Given the description of an element on the screen output the (x, y) to click on. 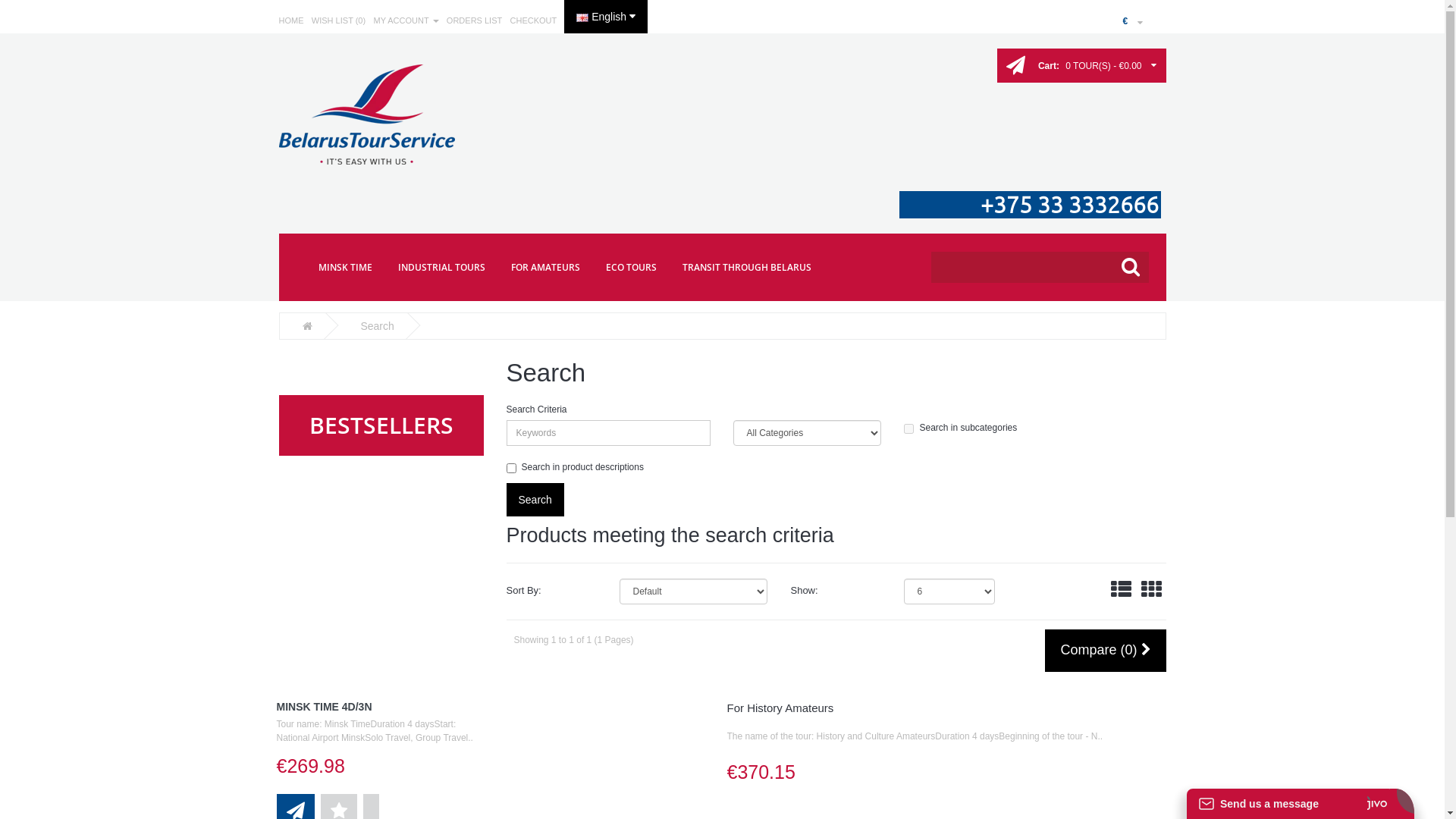
WISH LIST (0) Element type: text (338, 20)
English Element type: text (605, 16)
English Element type: hover (582, 17)
List Element type: hover (1120, 589)
CHECKOUT Element type: text (533, 20)
HOME Element type: text (291, 20)
MINSK TIME Element type: text (345, 267)
Search Element type: text (376, 325)
ORDERS LIST Element type: text (474, 20)
Compare (0) Element type: text (1104, 650)
INDUSTRIAL TOURS Element type: text (440, 267)
Grid Element type: hover (1151, 589)
For History Amateurs Element type: text (779, 707)
MINSK TIME 4D/3N Element type: text (323, 706)
Belarus Travel Shop Element type: hover (367, 114)
MY ACCOUNT Element type: text (405, 20)
ECO TOURS Element type: text (630, 267)
TRANSIT THROUGH BELARUS Element type: text (746, 267)
FOR AMATEURS Element type: text (545, 267)
